Given the description of an element on the screen output the (x, y) to click on. 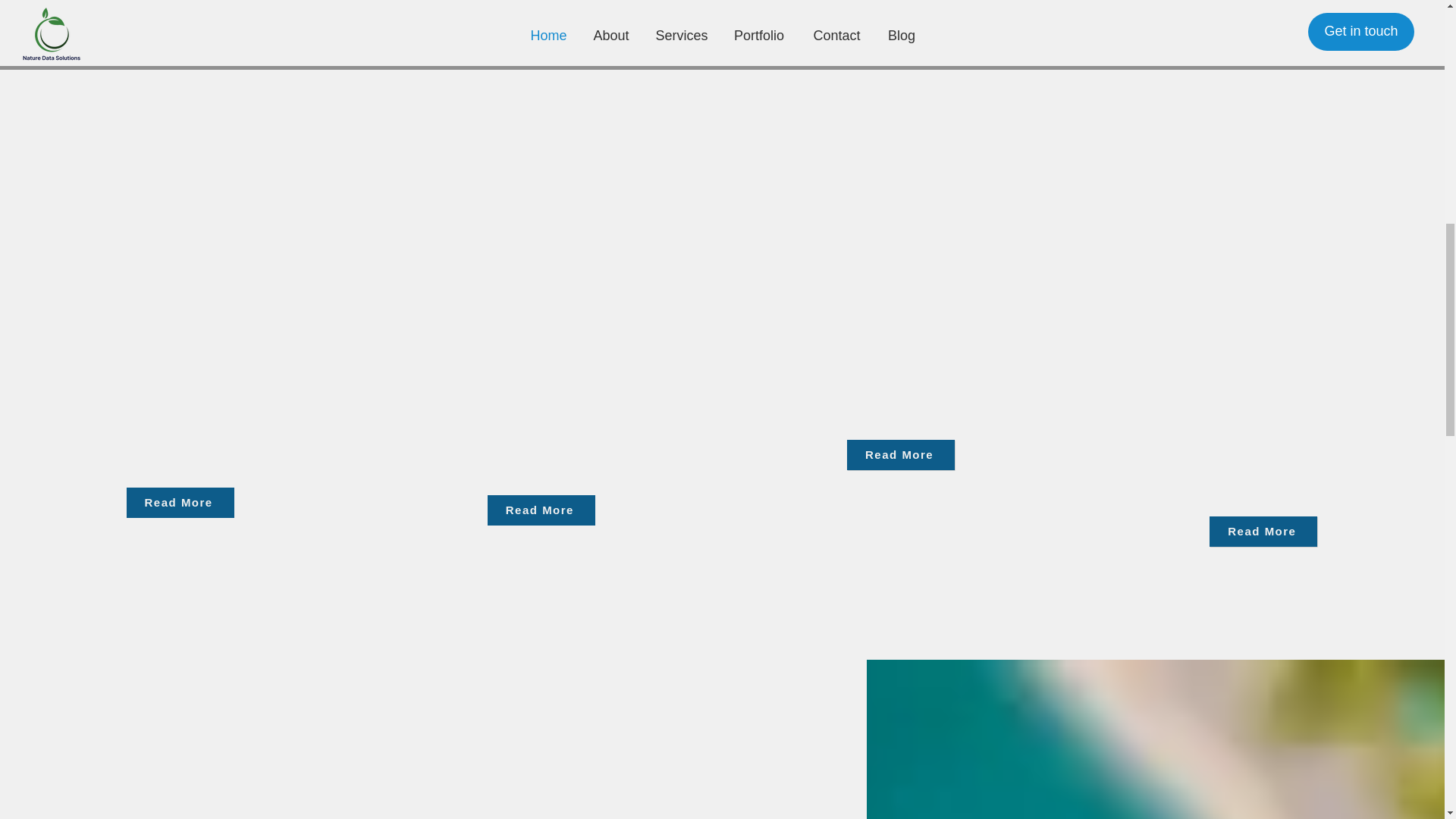
Read More (180, 502)
Read More (1263, 531)
Read More (541, 510)
Read More (901, 454)
